Given the description of an element on the screen output the (x, y) to click on. 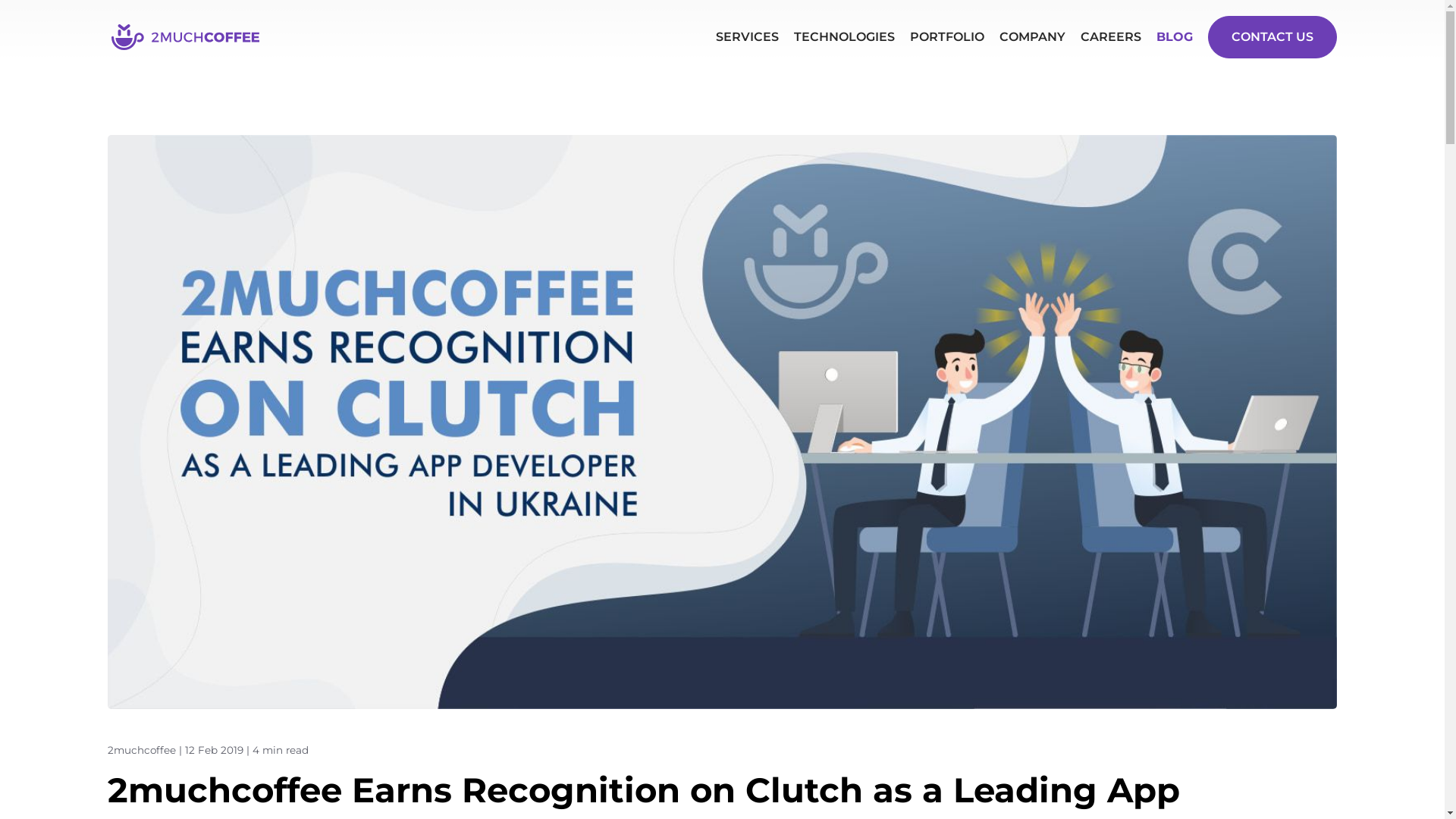
PORTFOLIO Element type: text (947, 36)
TECHNOLOGIES Element type: text (843, 36)
2muchcoffee Element type: text (141, 749)
COMPANY Element type: text (1032, 36)
BLOG Element type: text (1174, 36)
CAREERS Element type: text (1110, 36)
CONTACT US Element type: text (1272, 36)
SERVICES Element type: text (746, 36)
